Given the description of an element on the screen output the (x, y) to click on. 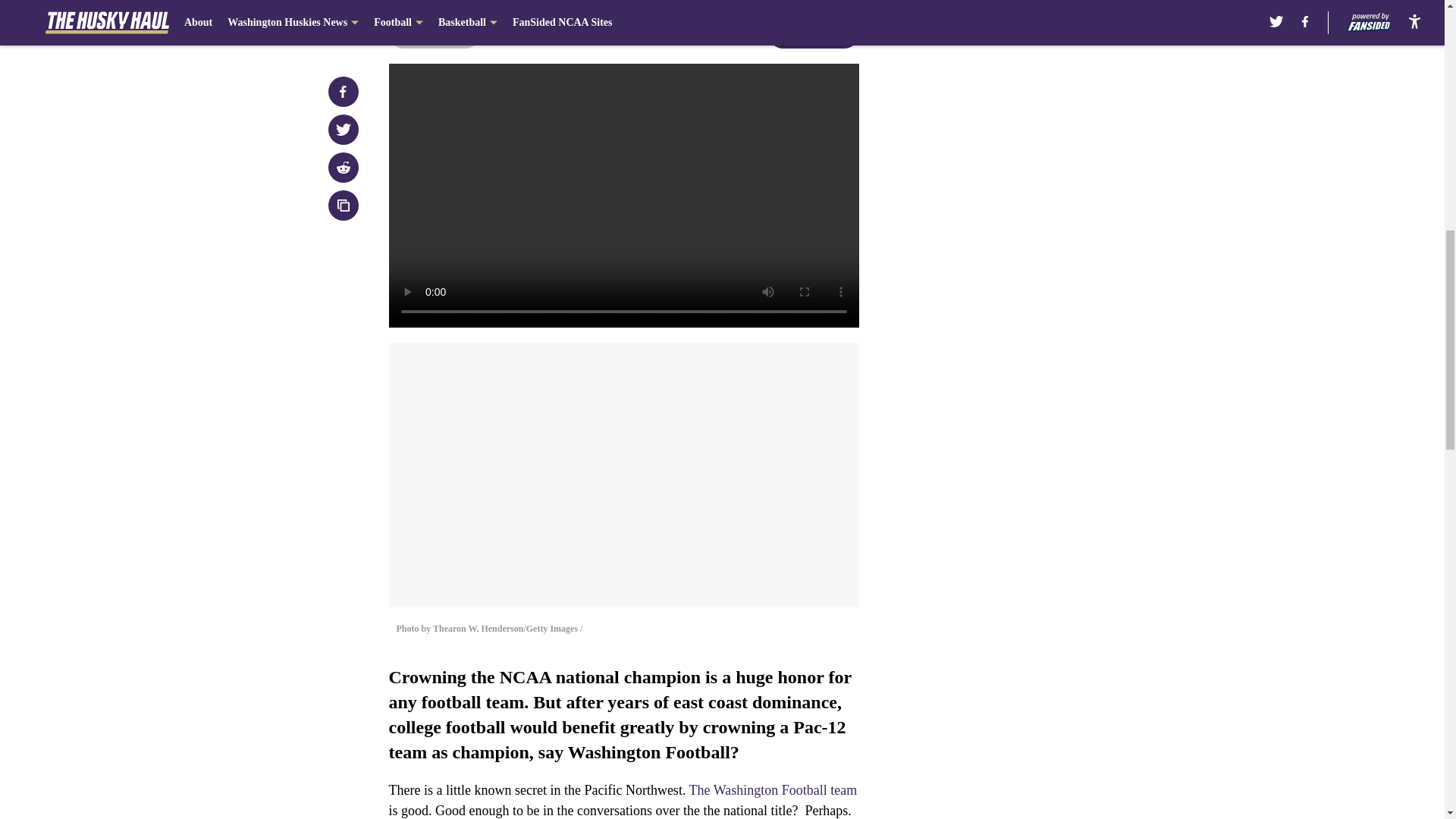
Prev (433, 33)
3rd party ad content (1047, 113)
3rd party ad content (1047, 332)
The Washington Football team (772, 789)
Next (813, 33)
